Given the description of an element on the screen output the (x, y) to click on. 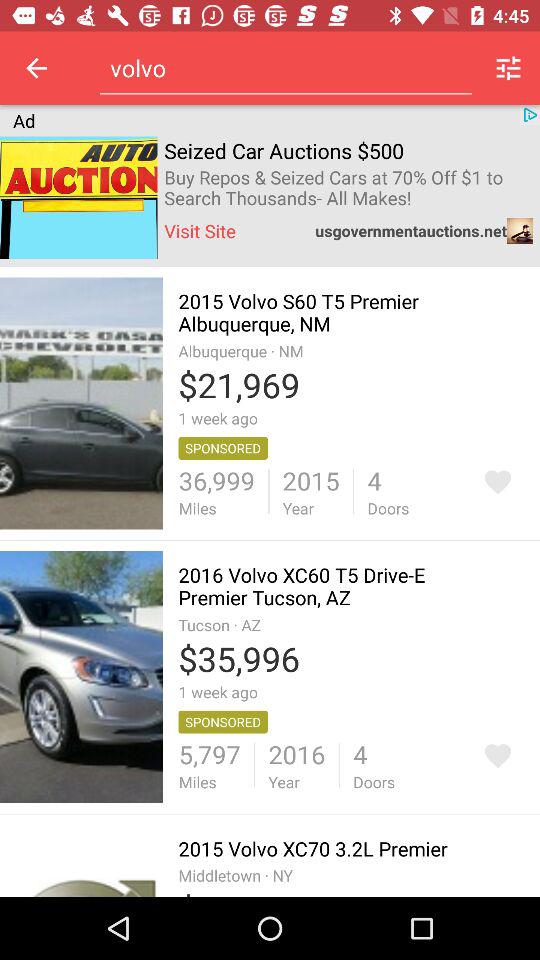
go back (36, 68)
